Given the description of an element on the screen output the (x, y) to click on. 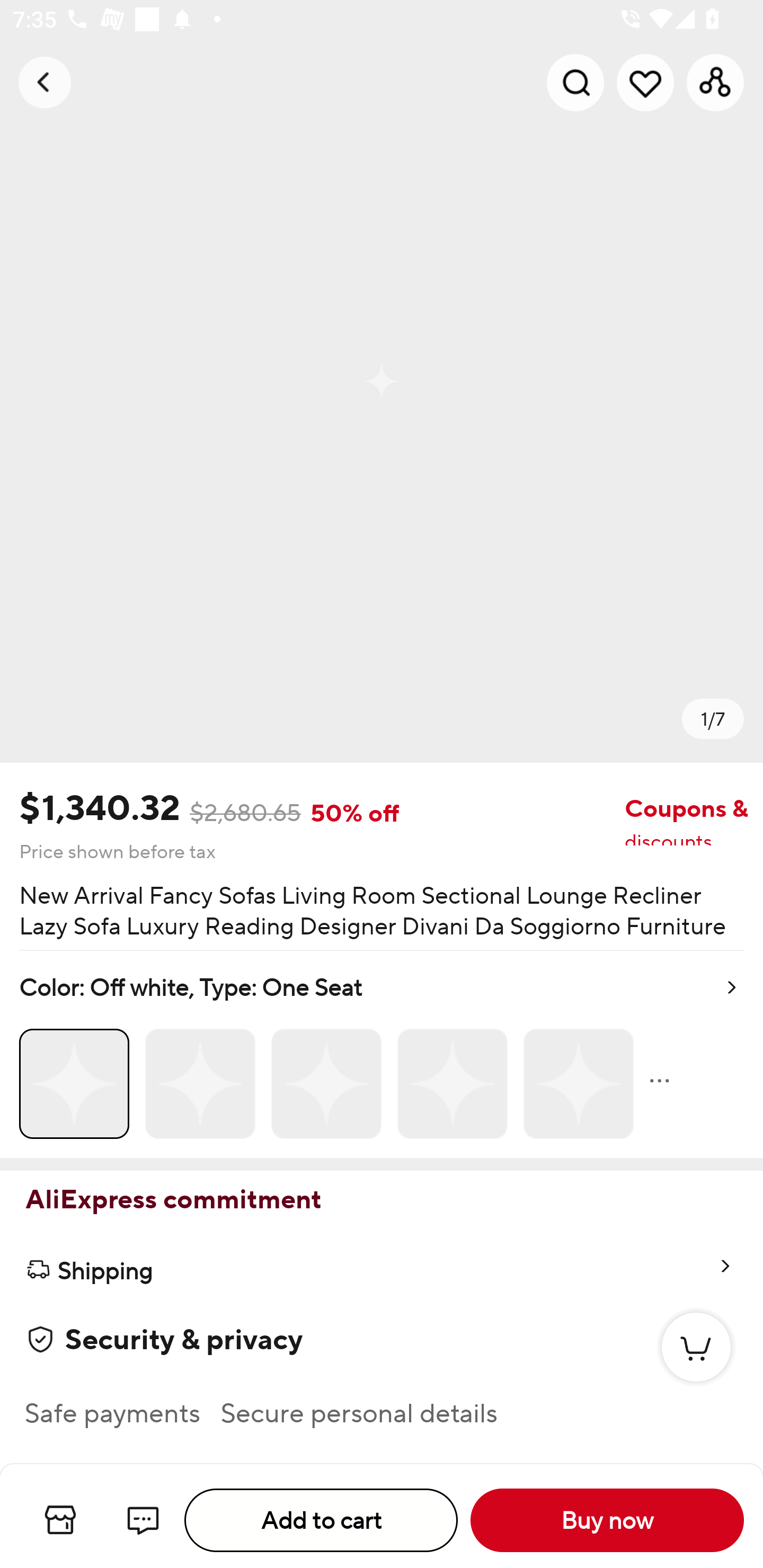
Navigate up (44, 82)
Color: Off white, Type: One Seat  (381, 1054)
Shipping  (381, 1270)
